Given the description of an element on the screen output the (x, y) to click on. 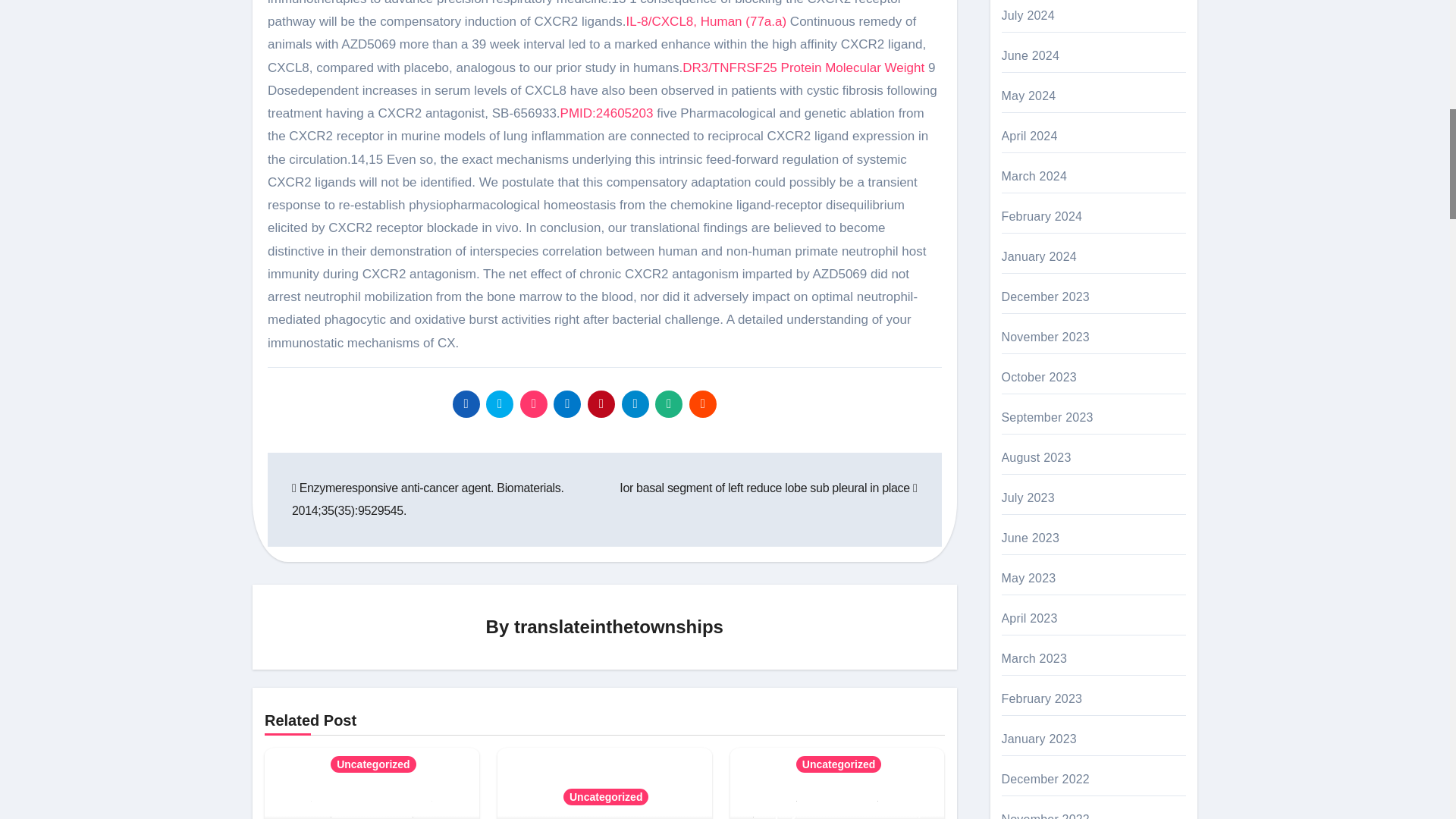
PMID:24605203 (606, 113)
translateinthetownships (618, 626)
Ior basal segment of left reduce lobe sub pleural in place (768, 487)
Uncategorized (372, 764)
